Given the description of an element on the screen output the (x, y) to click on. 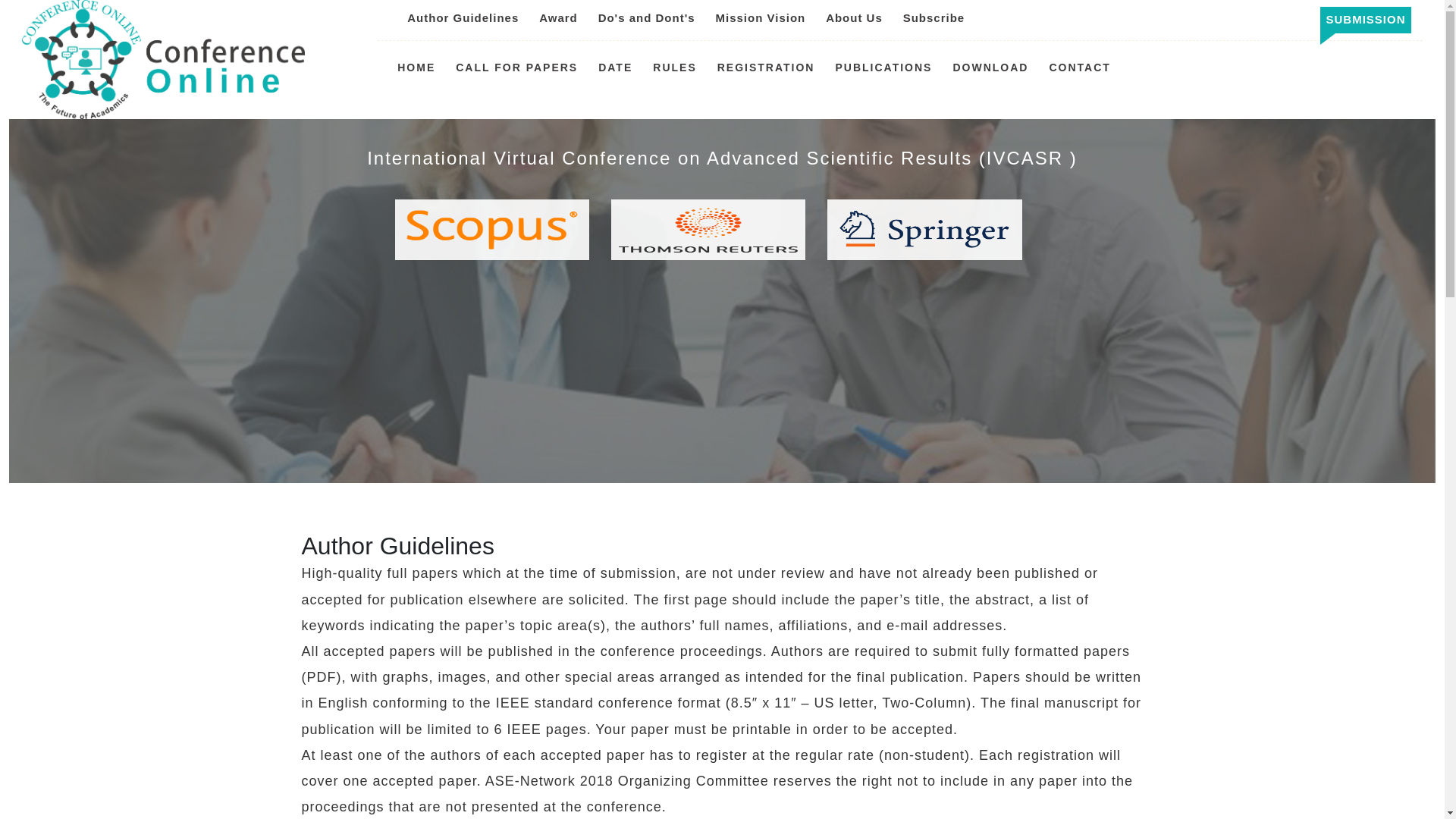
CONTACT (1078, 67)
SUBMISSION (1364, 19)
REGISTRATION (766, 67)
RULES (673, 67)
Subscribe (933, 17)
Author Guidelines (462, 17)
About Us (853, 17)
PUBLICATIONS (882, 67)
Mission Vision (759, 17)
Award (558, 17)
Do's and Dont's (646, 17)
DATE (614, 67)
CALL FOR PAPERS (516, 67)
DOWNLOAD (989, 67)
HOME (416, 67)
